Given the description of an element on the screen output the (x, y) to click on. 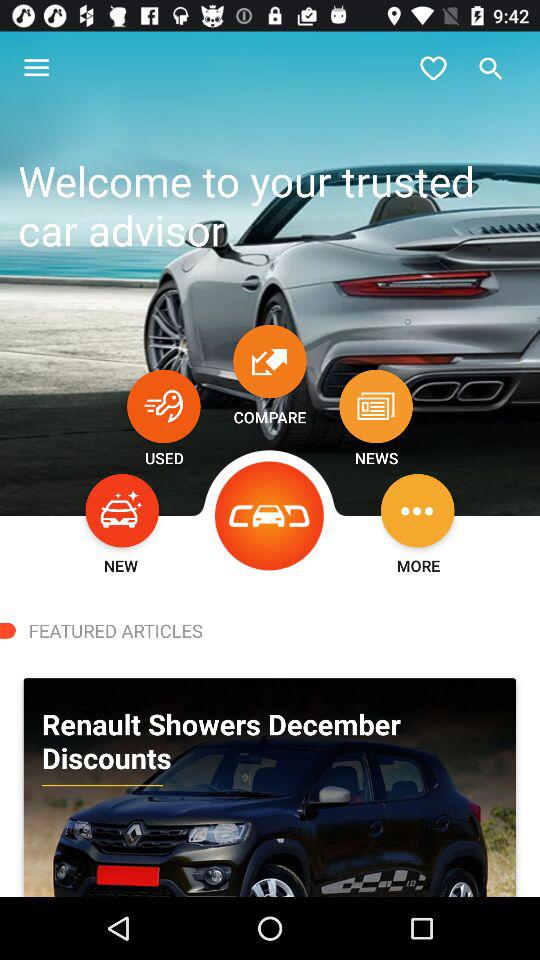
select item below welcome to your icon (375, 406)
